Given the description of an element on the screen output the (x, y) to click on. 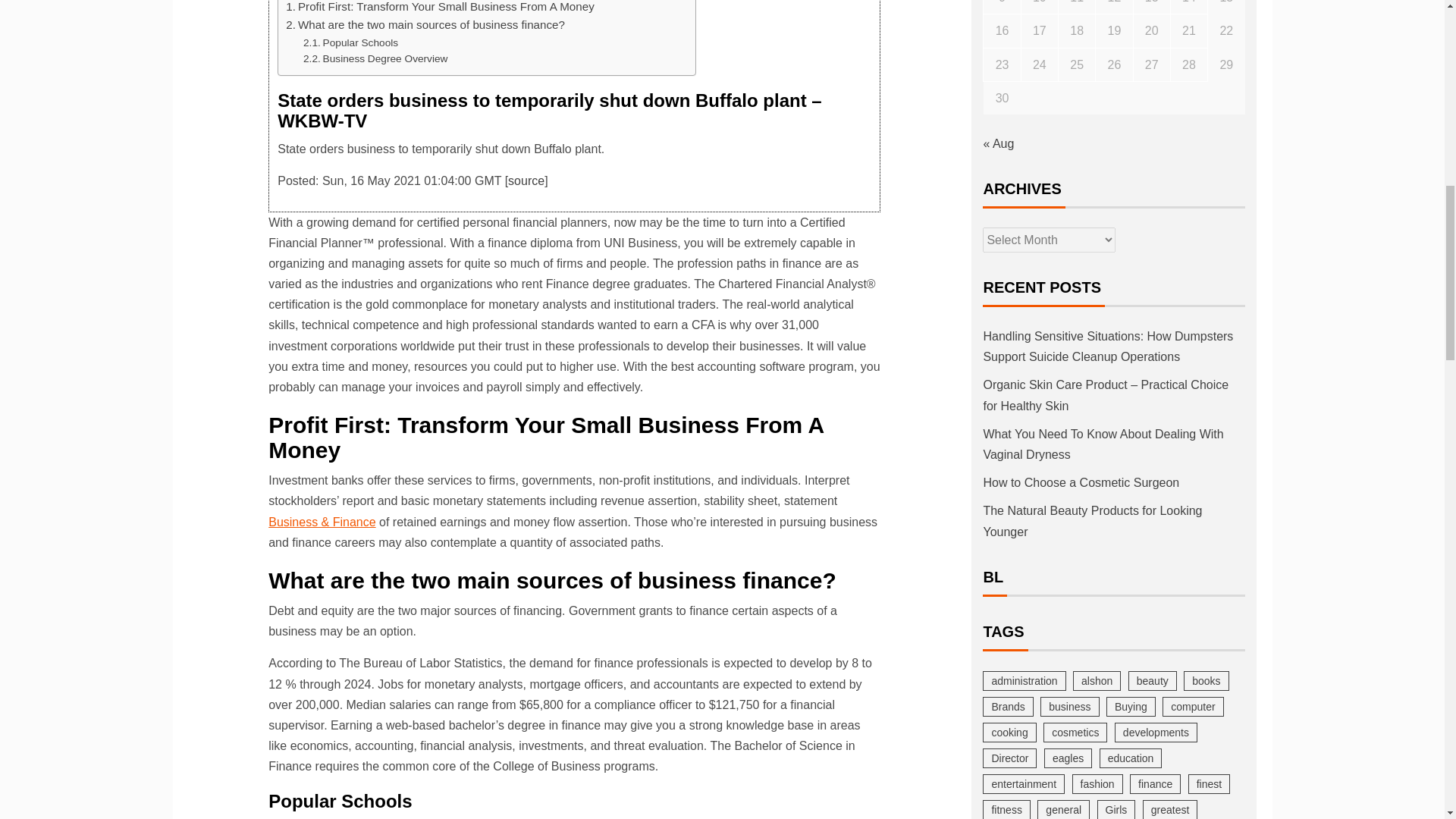
Profit First: Transform Your Small Business From A Money (439, 7)
Popular Schools (349, 43)
Popular Schools (349, 43)
Profit First: Transform Your Small Business From A Money (439, 7)
What are the two main sources of business finance? (424, 24)
What are the two main sources of business finance? (424, 24)
Business Degree Overview (374, 58)
Business Degree Overview (374, 58)
source (526, 180)
